Given the description of an element on the screen output the (x, y) to click on. 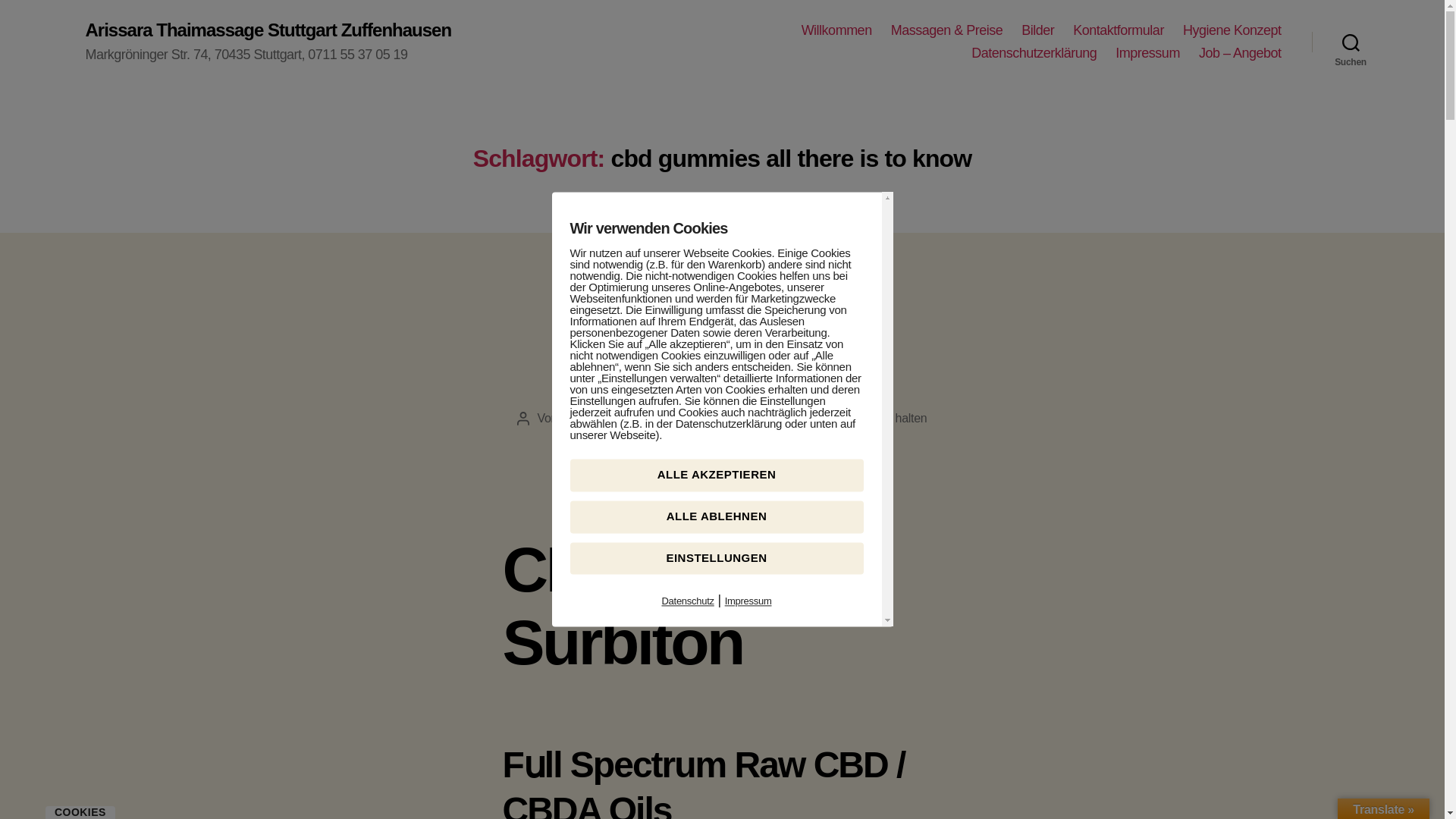
Hygiene Konzept (1231, 30)
amadolesage637 (605, 418)
cbd-oil-surbiton (721, 358)
28. Februar 2024 (738, 418)
Arissara Thaimassage Stuttgart Zuffenhausen (267, 30)
Impressum (1147, 53)
Willkommen (837, 30)
Kontaktformular (1118, 30)
Suchen (1350, 41)
Bilder (1038, 30)
